Given the description of an element on the screen output the (x, y) to click on. 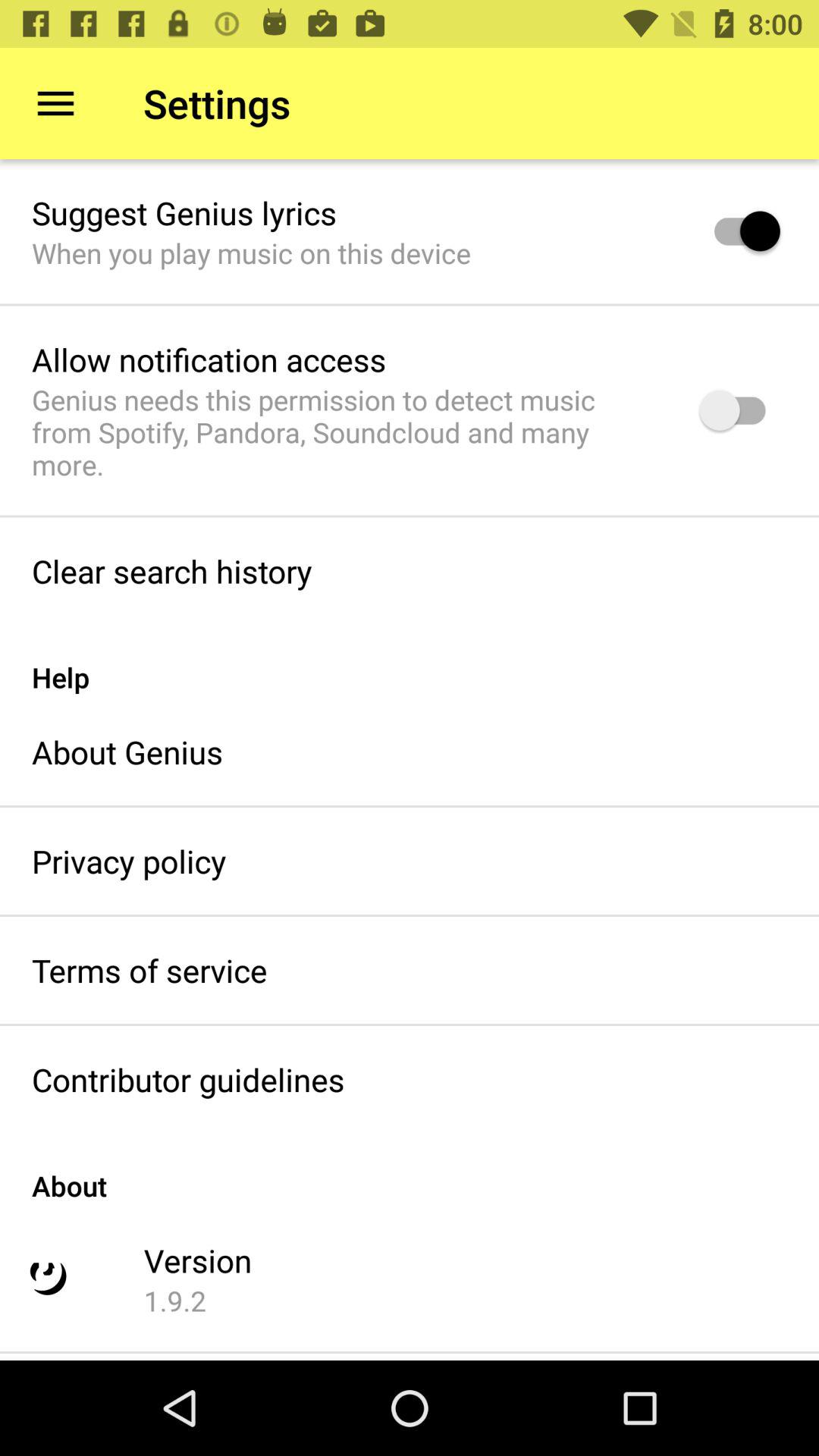
jump until the version icon (197, 1259)
